Given the description of an element on the screen output the (x, y) to click on. 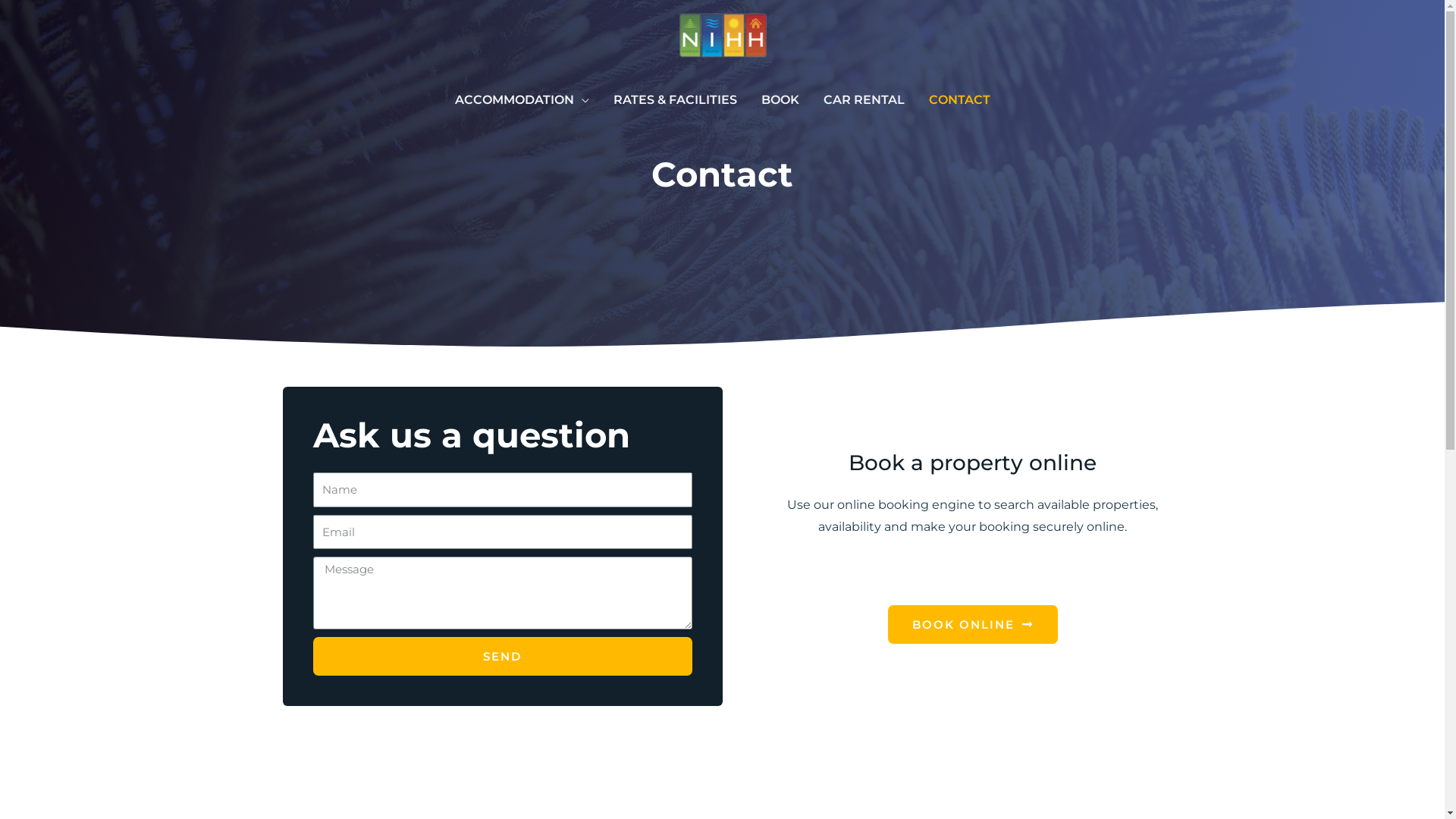
CONTACT Element type: text (958, 99)
BOOK ONLINE Element type: text (972, 624)
RATES & FACILITIES Element type: text (674, 99)
BOOK Element type: text (780, 99)
CAR RENTAL Element type: text (863, 99)
ACCOMMODATION Element type: text (521, 99)
SEND Element type: text (501, 656)
